Given the description of an element on the screen output the (x, y) to click on. 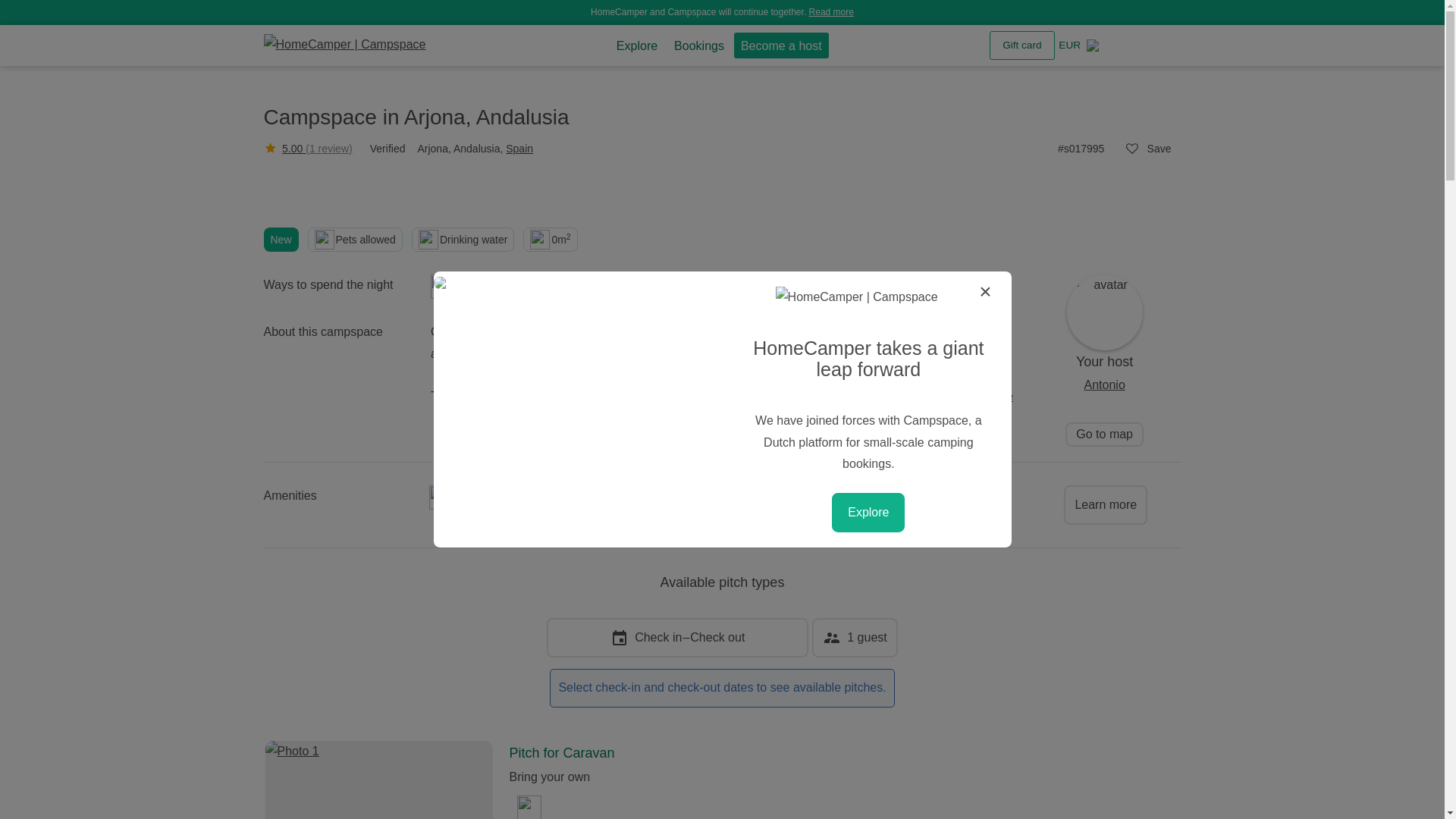
EUR (1070, 45)
Become a host (780, 45)
English (1095, 45)
Gift card (1022, 45)
Bookings (698, 45)
Read more (831, 11)
Explore (636, 45)
